Given the description of an element on the screen output the (x, y) to click on. 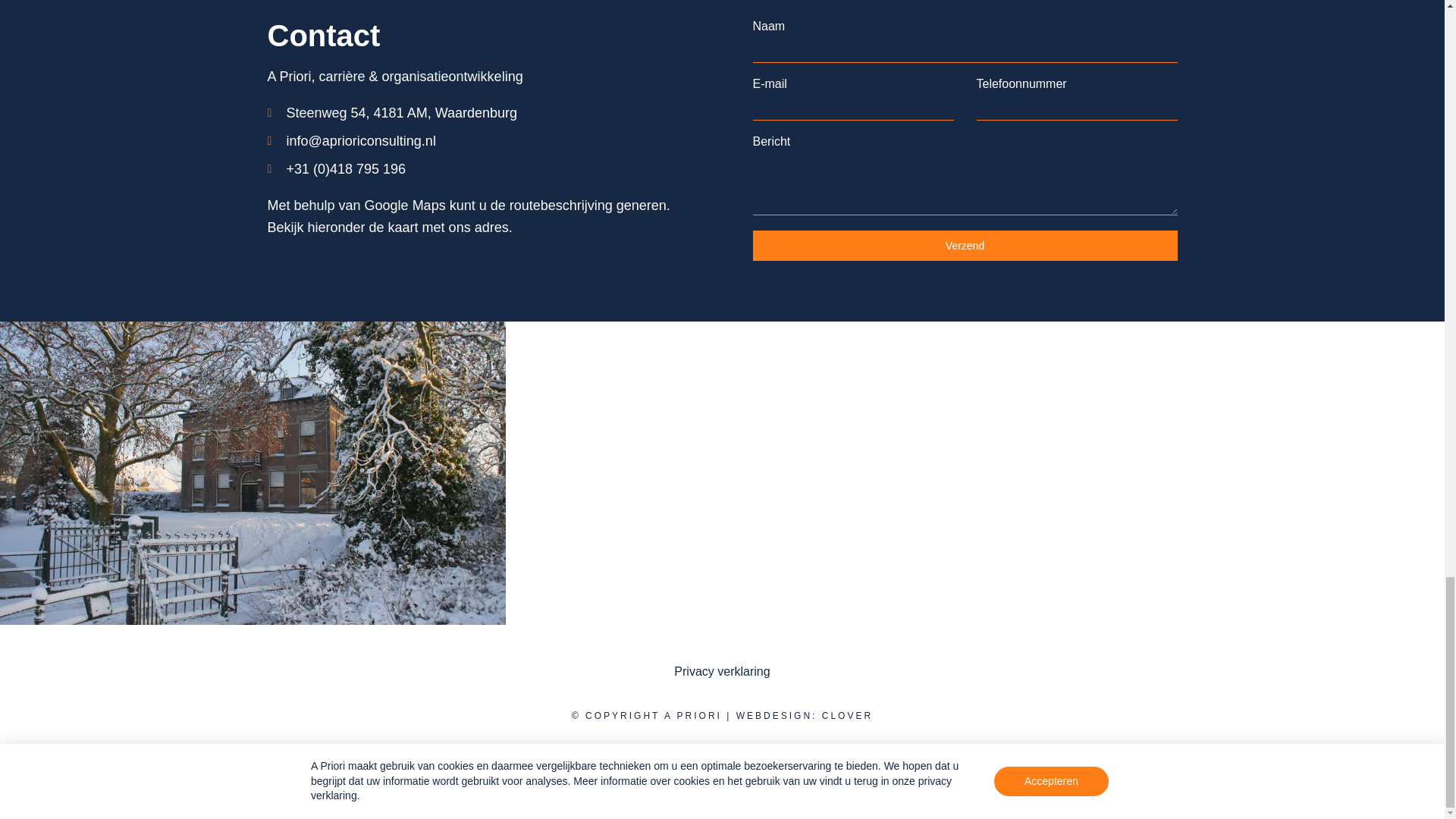
Verzend (964, 245)
Privacy verklaring (722, 671)
